Given the description of an element on the screen output the (x, y) to click on. 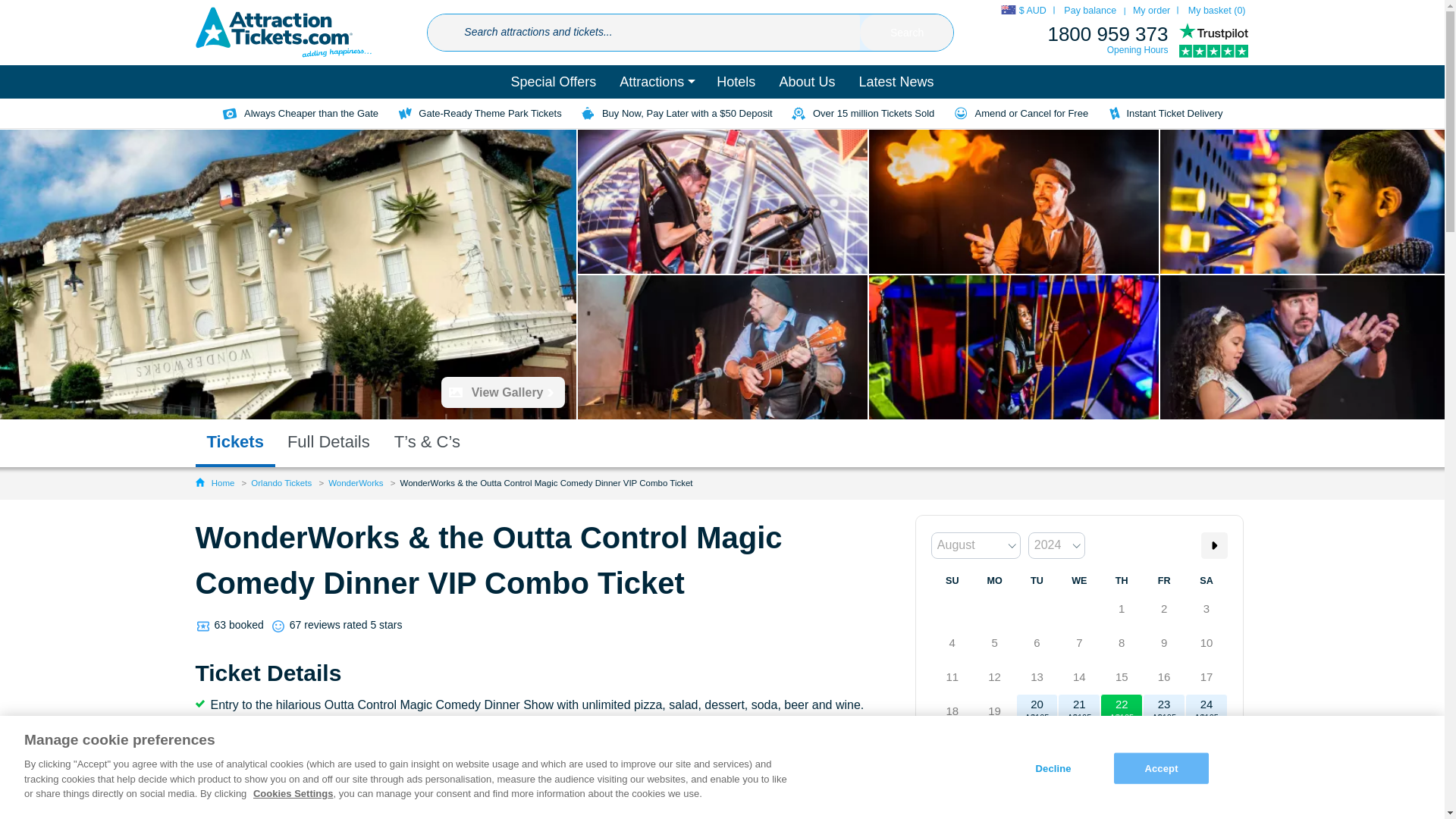
Search (906, 32)
Special Offers (553, 81)
1800 959 373 (1106, 34)
Attractions (656, 81)
Search (906, 32)
Search (906, 32)
